Given the description of an element on the screen output the (x, y) to click on. 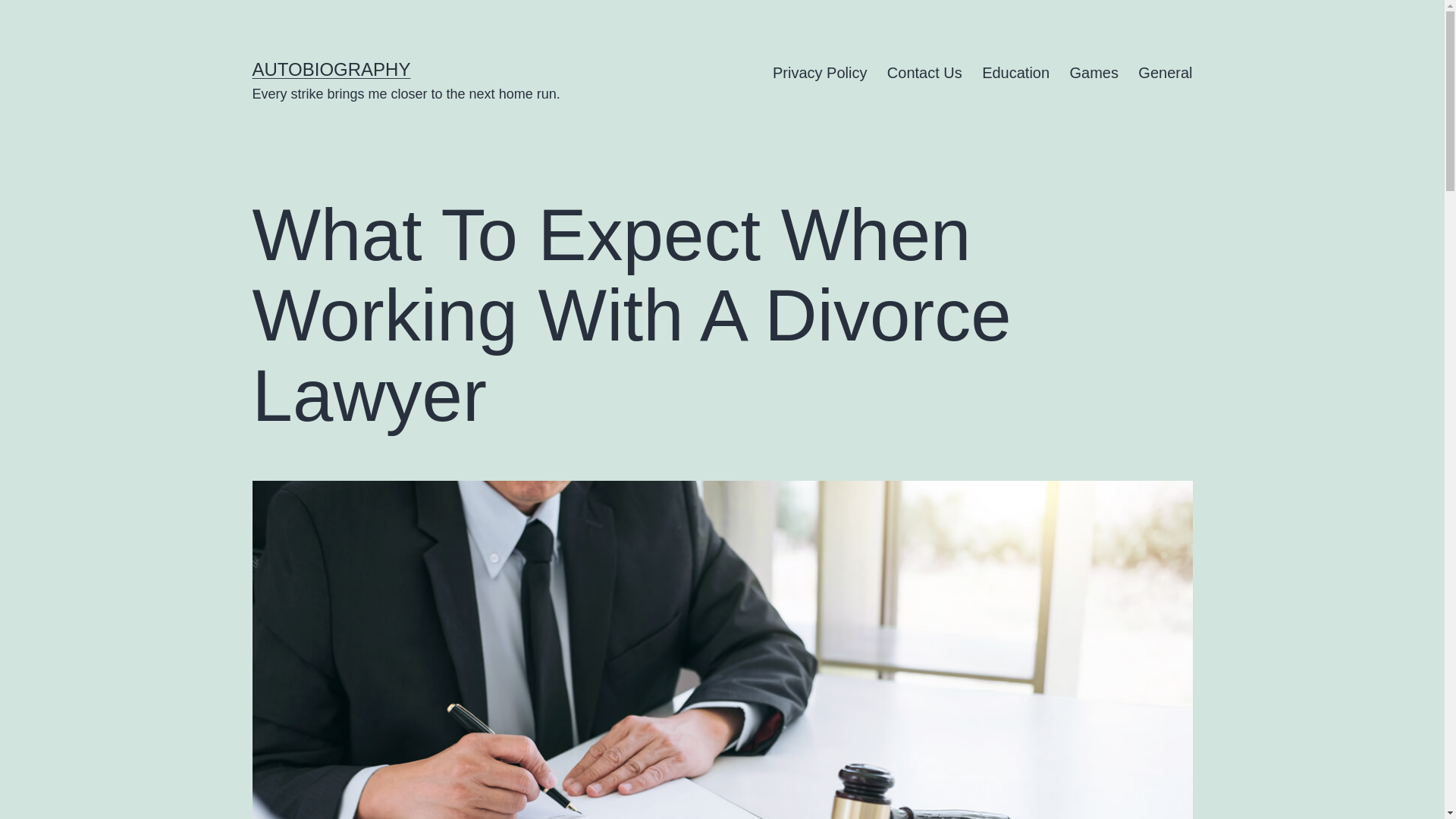
Privacy Policy (819, 72)
Contact Us (924, 72)
Education (1015, 72)
Games (1093, 72)
AUTOBIOGRAPHY (330, 68)
General (1165, 72)
